Given the description of an element on the screen output the (x, y) to click on. 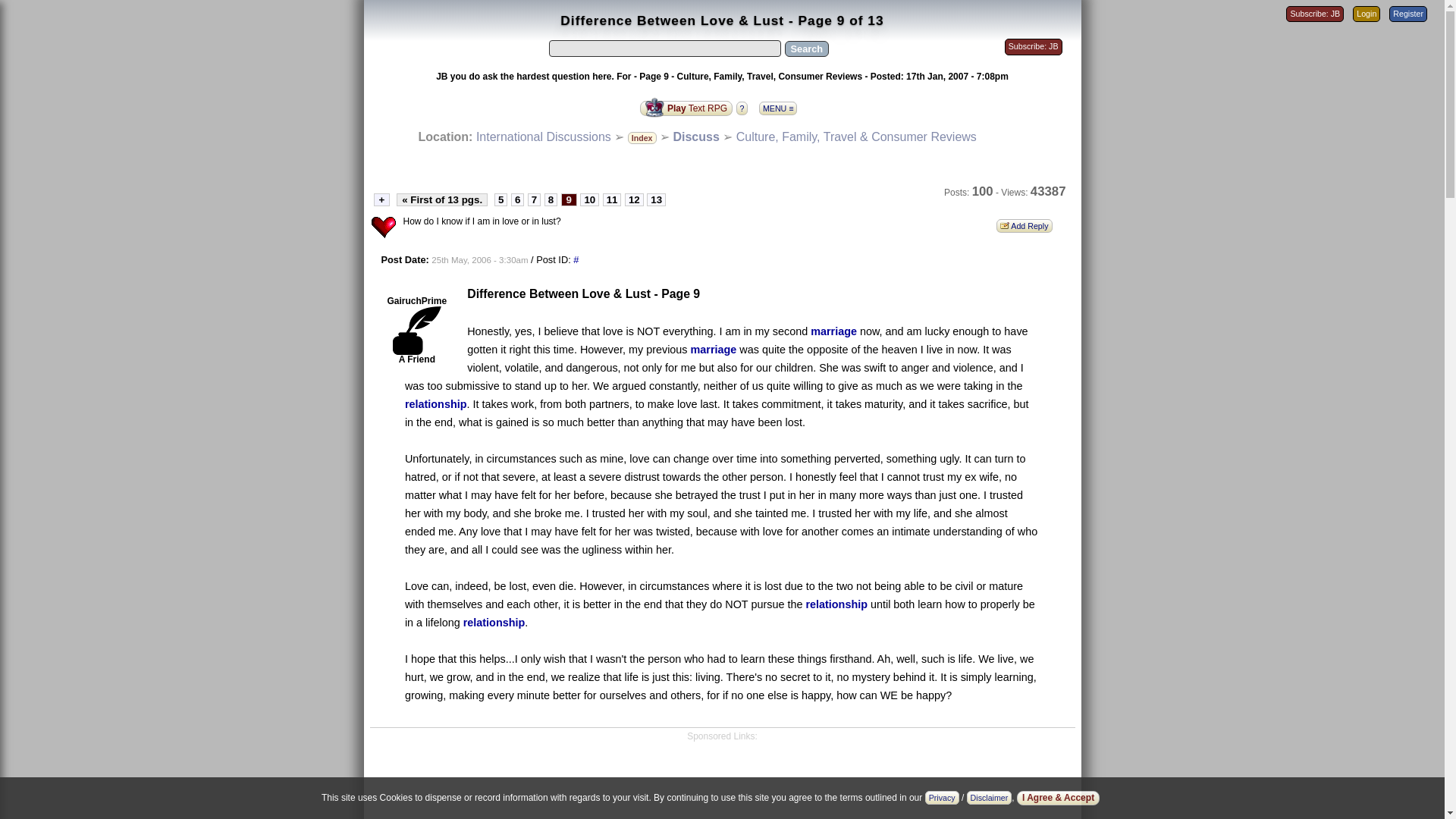
5 (500, 198)
7 (533, 198)
6 (517, 198)
? (745, 106)
Advertisement (722, 780)
Discuss (695, 136)
Home (543, 136)
International Discussions (543, 136)
Search (806, 48)
8 (550, 198)
